Given the description of an element on the screen output the (x, y) to click on. 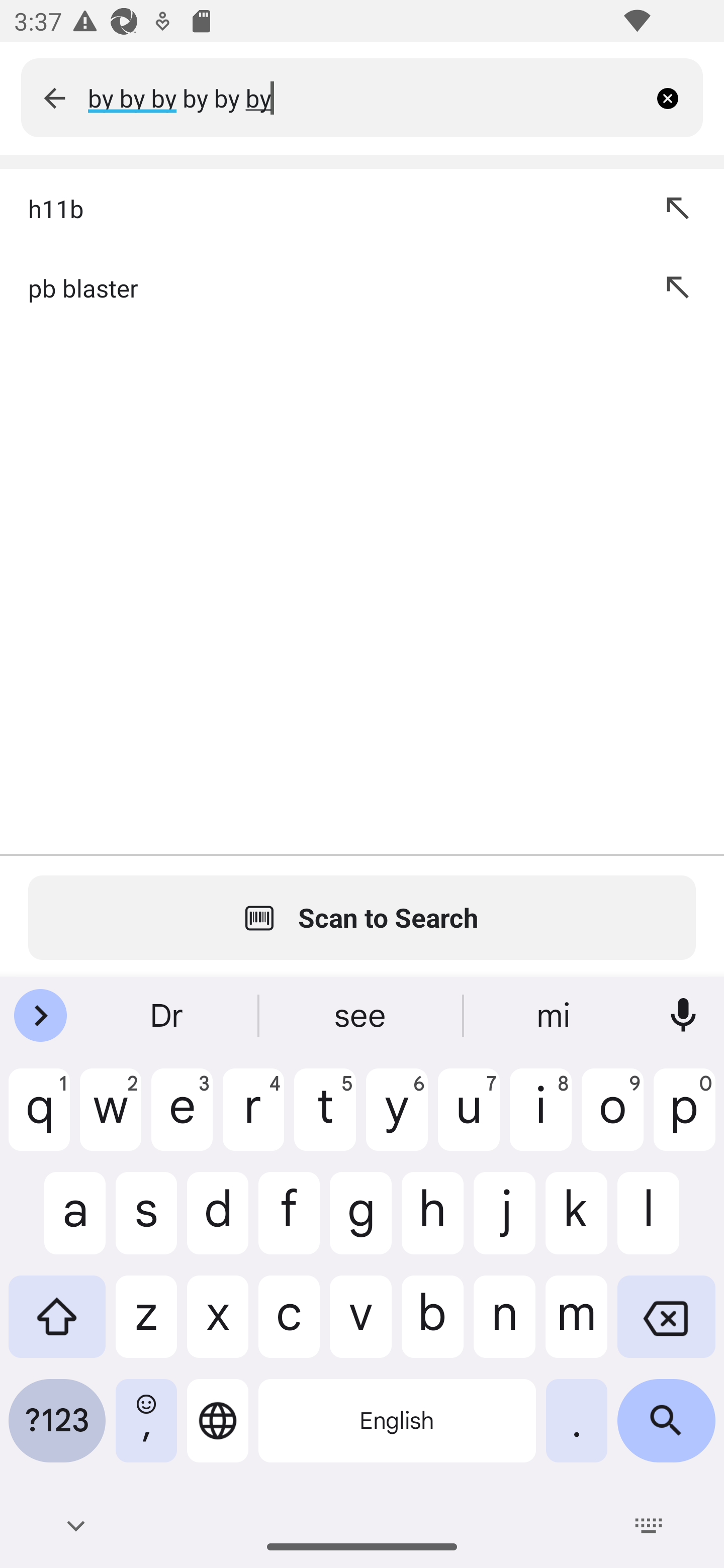
 (54, 97)
by by by by by by Text input field (367, 97)
Clear search bar text  (674, 97)
h11b (322, 208)
pb blaster (322, 287)
